Given the description of an element on the screen output the (x, y) to click on. 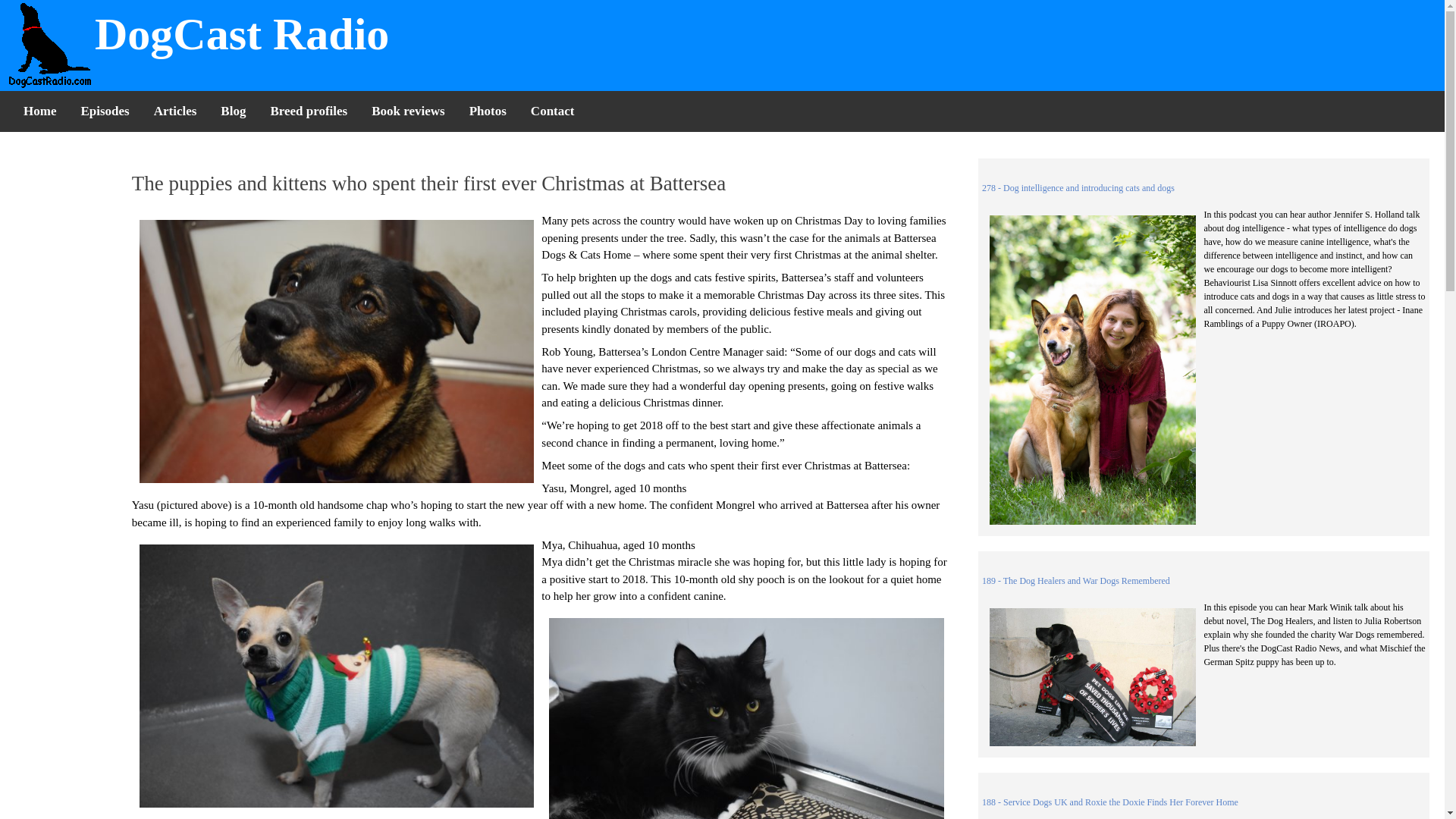
Book reviews (408, 110)
278 - Dog intelligence and introducing cats and dogs (1077, 186)
Photos (487, 110)
Articles (175, 110)
Episodes (104, 110)
Home (39, 110)
Contact (552, 110)
Blog (232, 110)
189 - The Dog Healers and War Dogs Remembered (1075, 580)
